Given the description of an element on the screen output the (x, y) to click on. 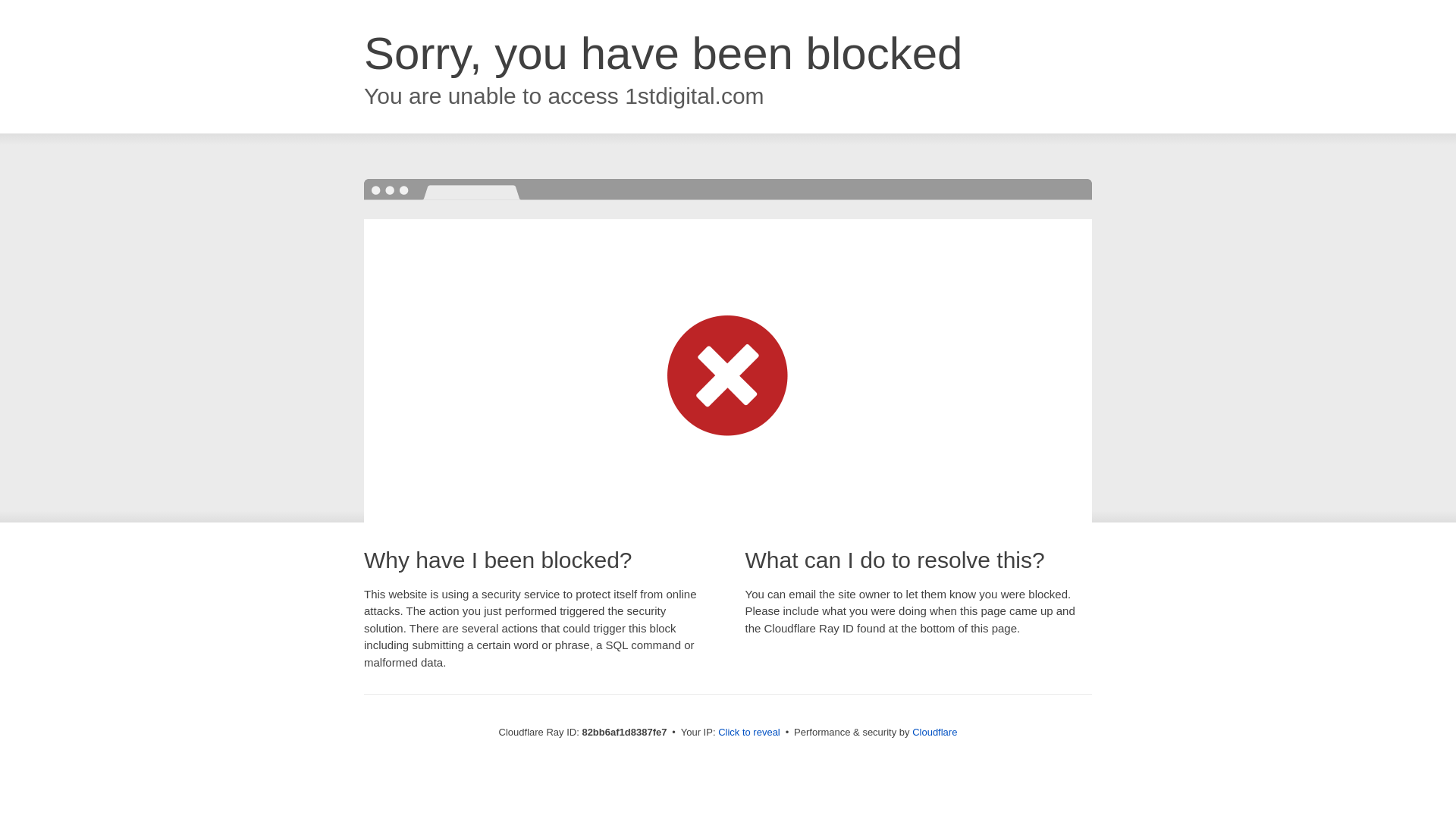
Click to reveal Element type: text (749, 732)
Cloudflare Element type: text (934, 731)
